Given the description of an element on the screen output the (x, y) to click on. 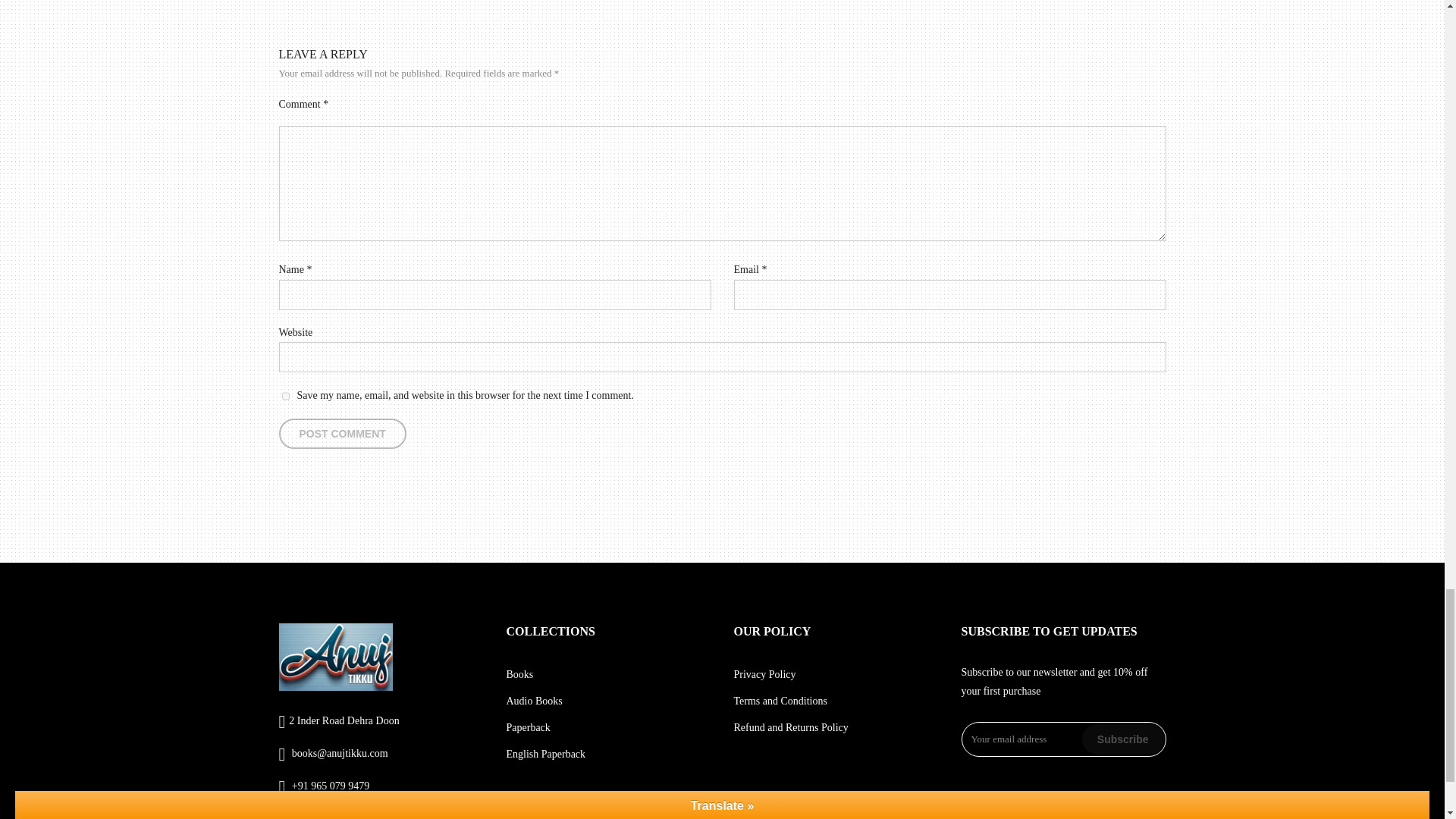
Post Comment (342, 433)
Instagram (331, 816)
Twitter (307, 816)
Pinterest (354, 816)
Facebook (283, 816)
